Given the description of an element on the screen output the (x, y) to click on. 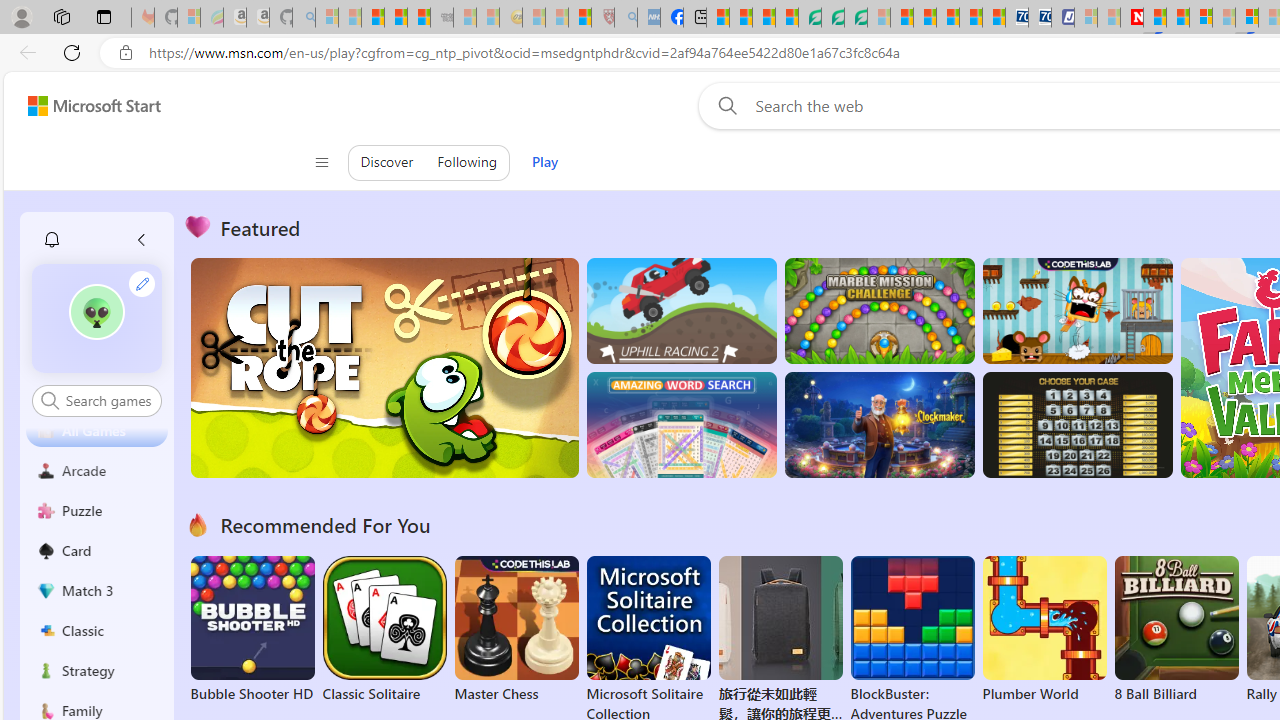
Squicky (1076, 310)
Master Chess (516, 629)
Cheap Hotels - Save70.com (1039, 17)
Deal or No Deal (1076, 425)
Class: control icon-only (320, 162)
Play (544, 161)
Play (544, 162)
14 Common Myths Debunked By Scientific Facts (1178, 17)
